Given the description of an element on the screen output the (x, y) to click on. 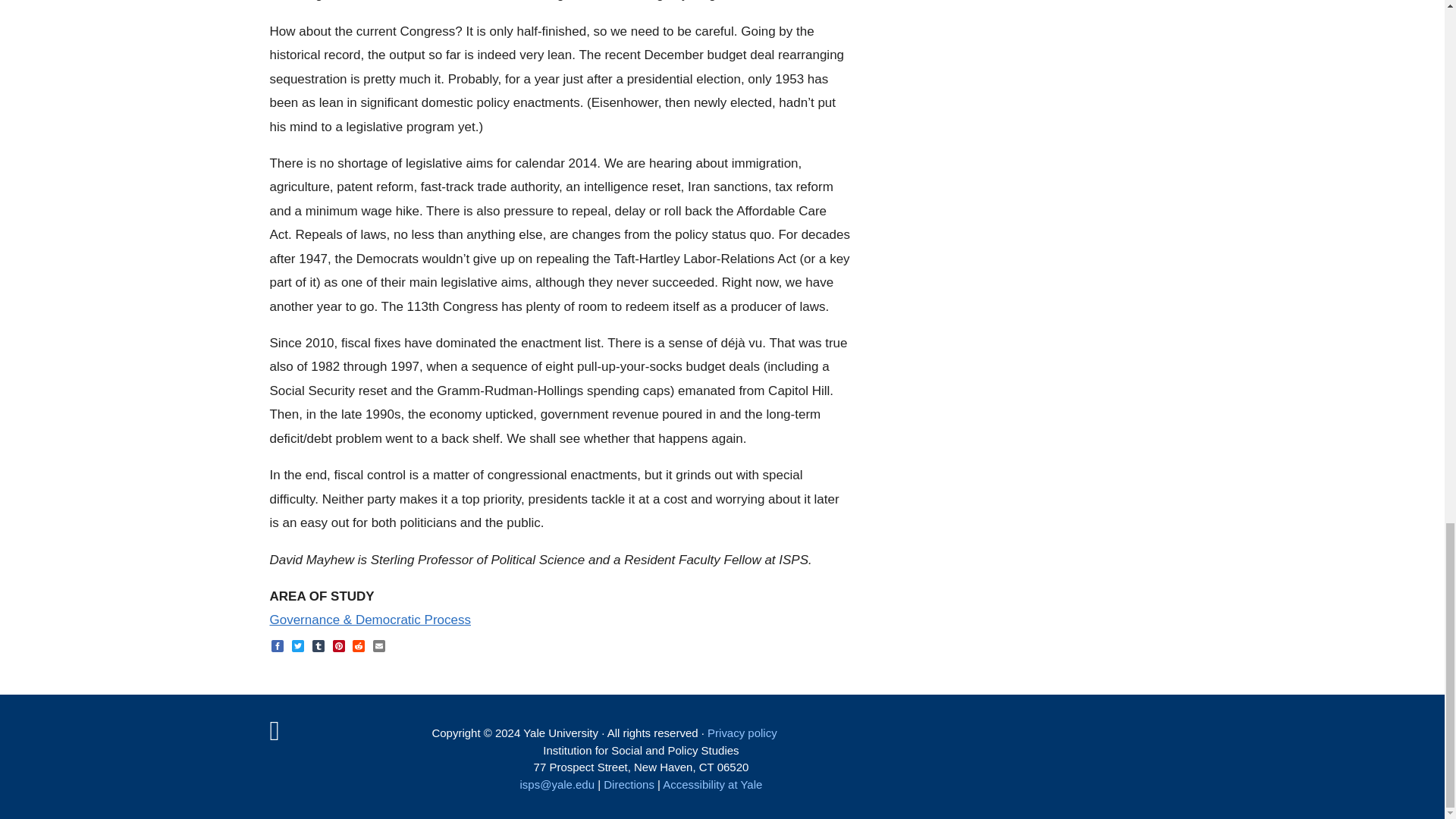
Yale Privacy policy (742, 732)
